Given the description of an element on the screen output the (x, y) to click on. 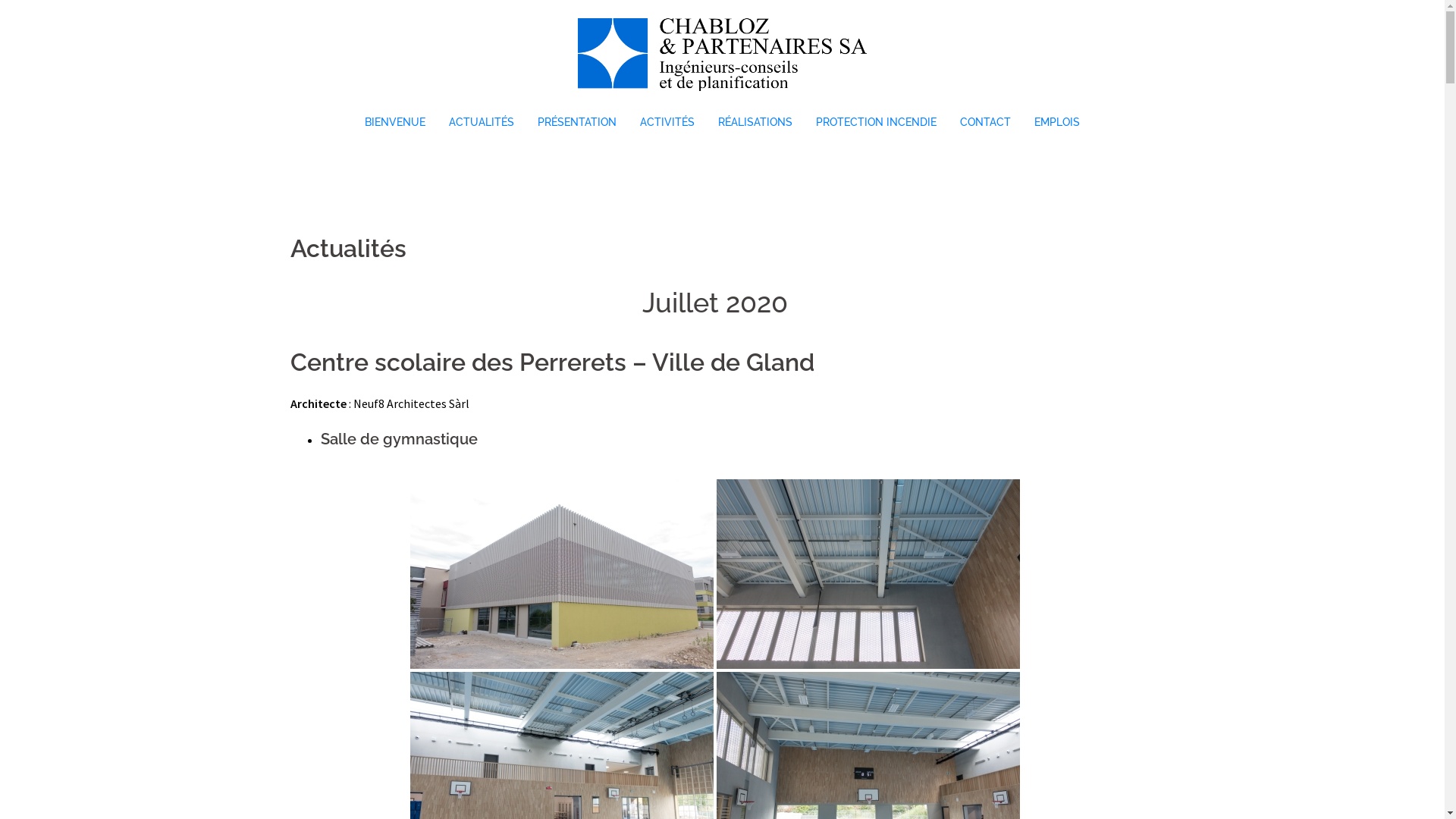
Chabloz & Partenaires Element type: hover (722, 56)
DSC01277 Element type: hover (867, 573)
DSC01328 Element type: hover (560, 573)
PROTECTION INCENDIE Element type: text (875, 122)
EMPLOIS Element type: text (1056, 122)
BIENVENUE Element type: text (394, 122)
CONTACT Element type: text (985, 122)
